Given the description of an element on the screen output the (x, y) to click on. 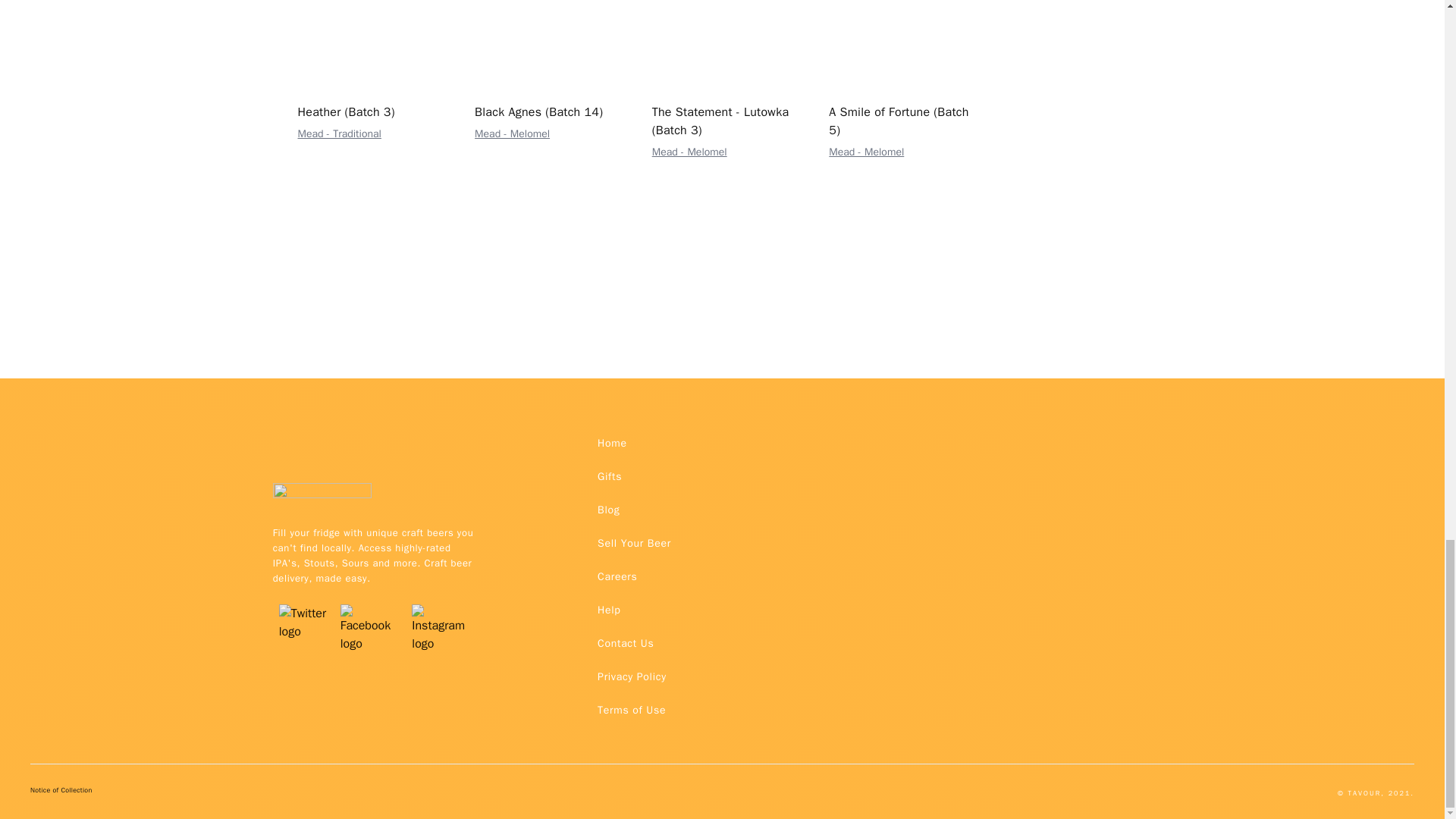
home (612, 443)
Twitter (303, 604)
Tavour (322, 498)
gifts (609, 476)
FAQ (631, 676)
sell your beer (633, 543)
Facebook (370, 604)
FAQ (631, 710)
blog (608, 510)
FAQ (625, 643)
